Given the description of an element on the screen output the (x, y) to click on. 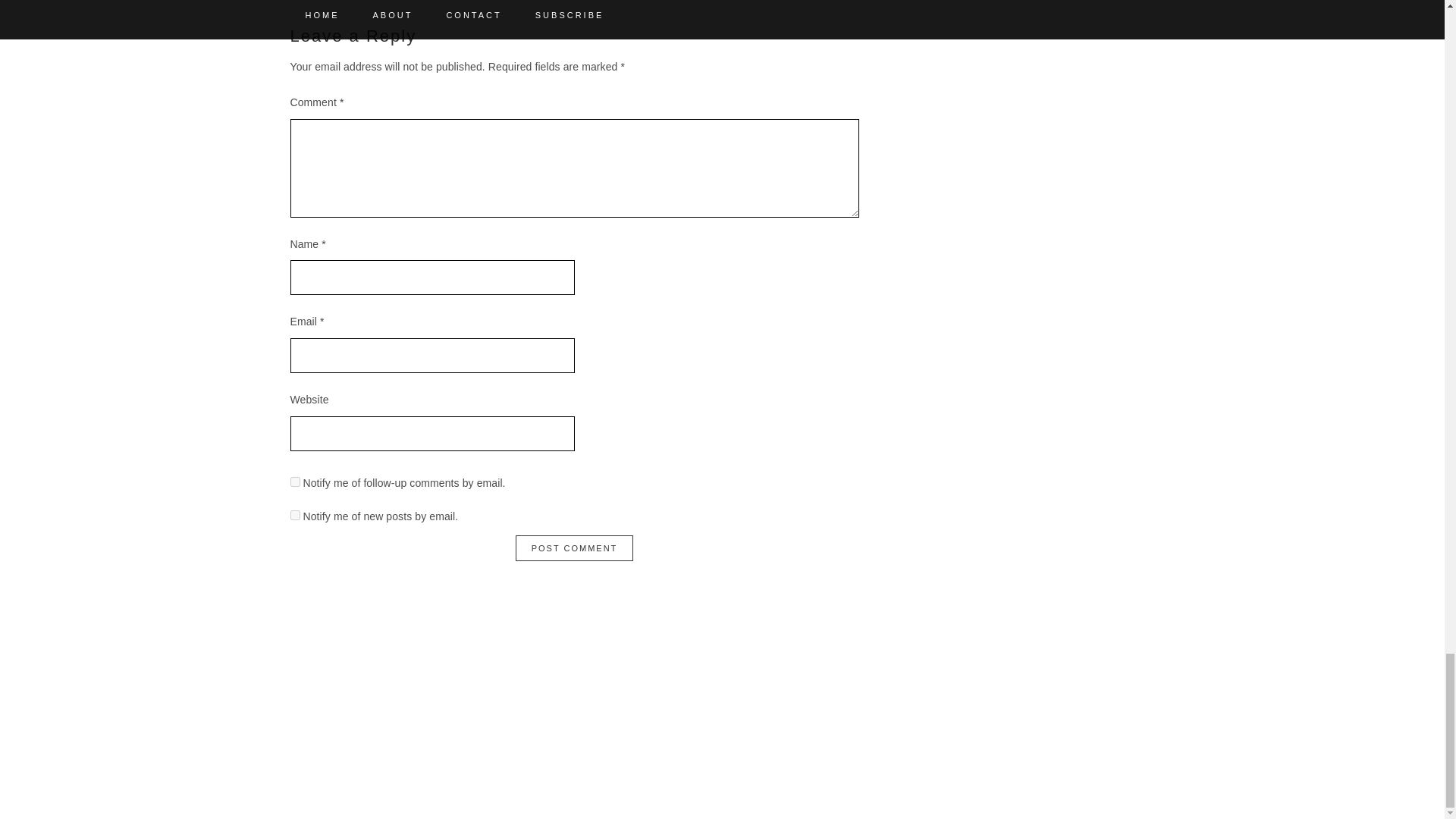
subscribe (294, 481)
Post Comment (574, 548)
subscribe (294, 515)
Post Comment (574, 548)
